Given the description of an element on the screen output the (x, y) to click on. 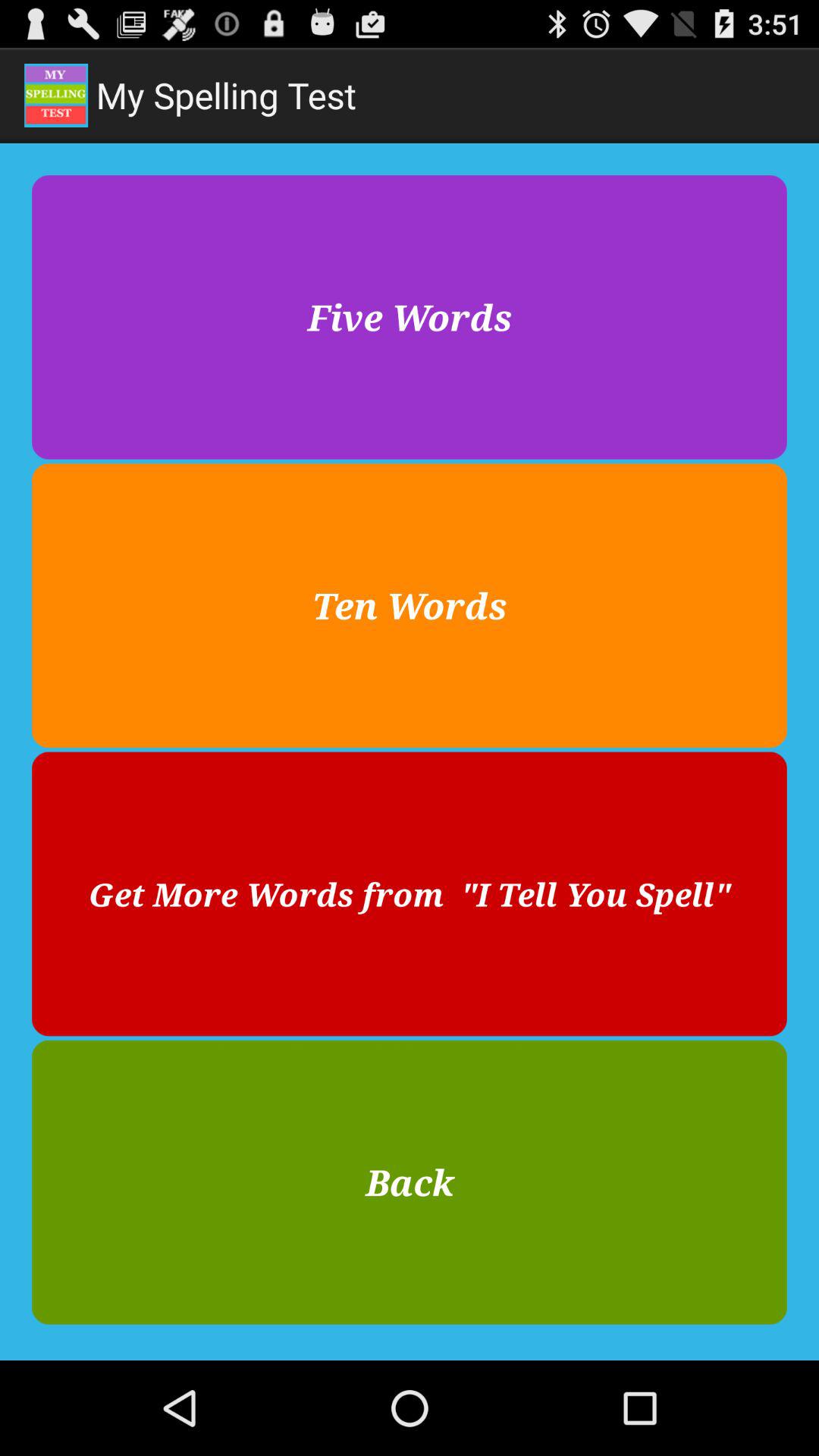
choose the ten words item (409, 605)
